Given the description of an element on the screen output the (x, y) to click on. 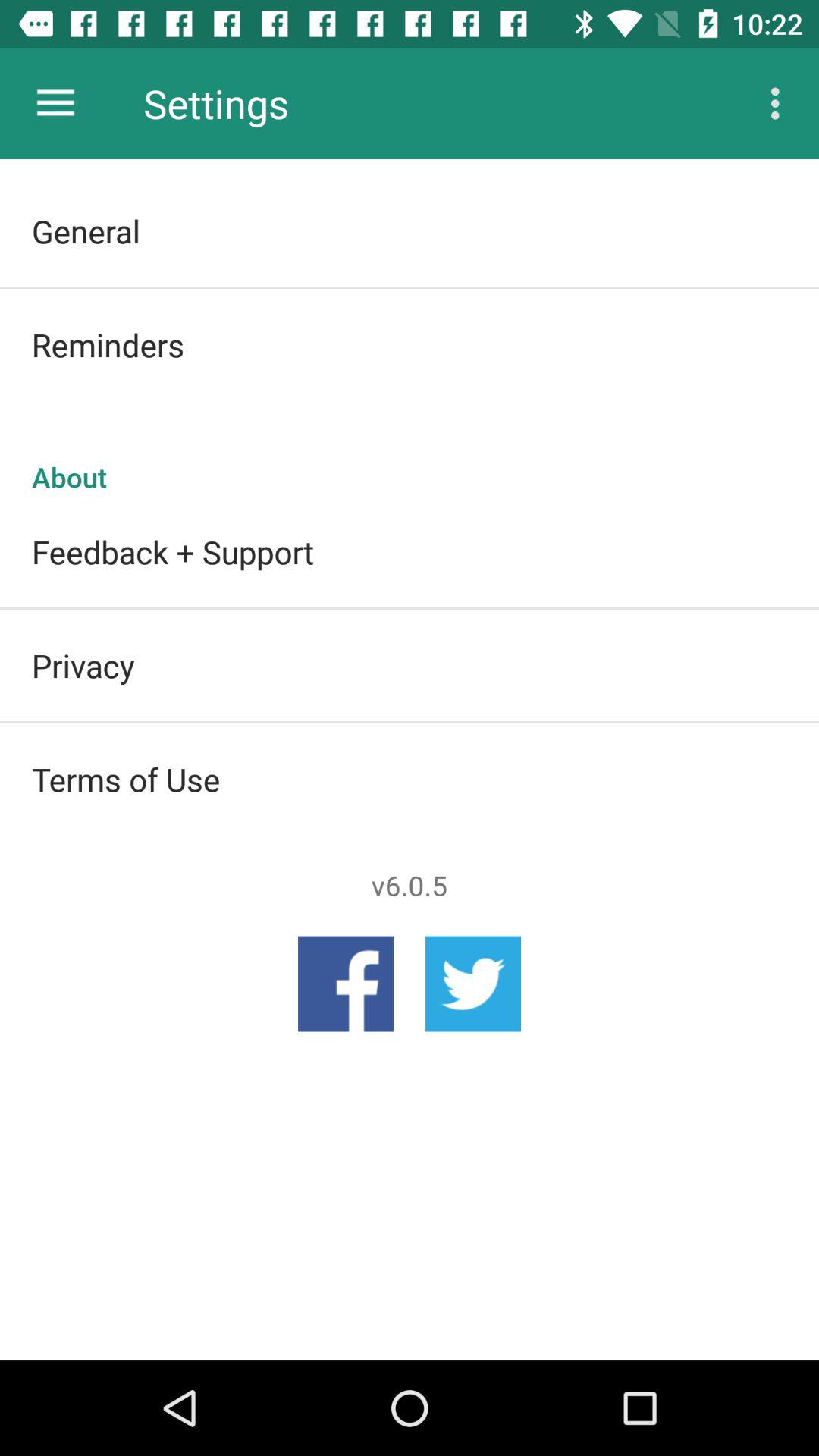
tap feedback + support item (409, 551)
